Given the description of an element on the screen output the (x, y) to click on. 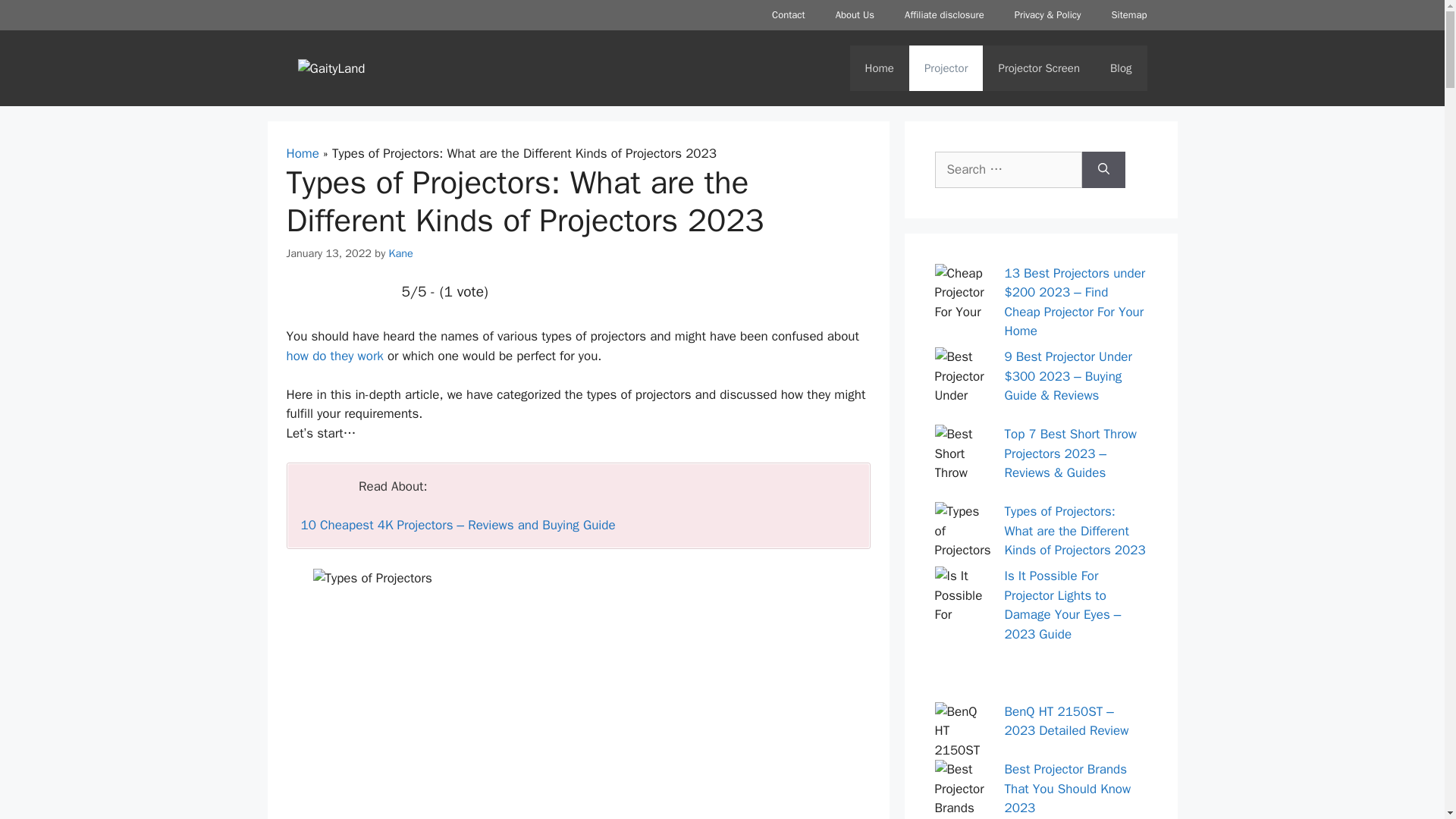
Search for: (1007, 169)
About Us (855, 15)
Blog (1120, 67)
Contact (789, 15)
View all posts by Kane (400, 252)
how do they work (335, 355)
Home (879, 67)
Projector (946, 67)
Sitemap (1128, 15)
Home (302, 153)
